Given the description of an element on the screen output the (x, y) to click on. 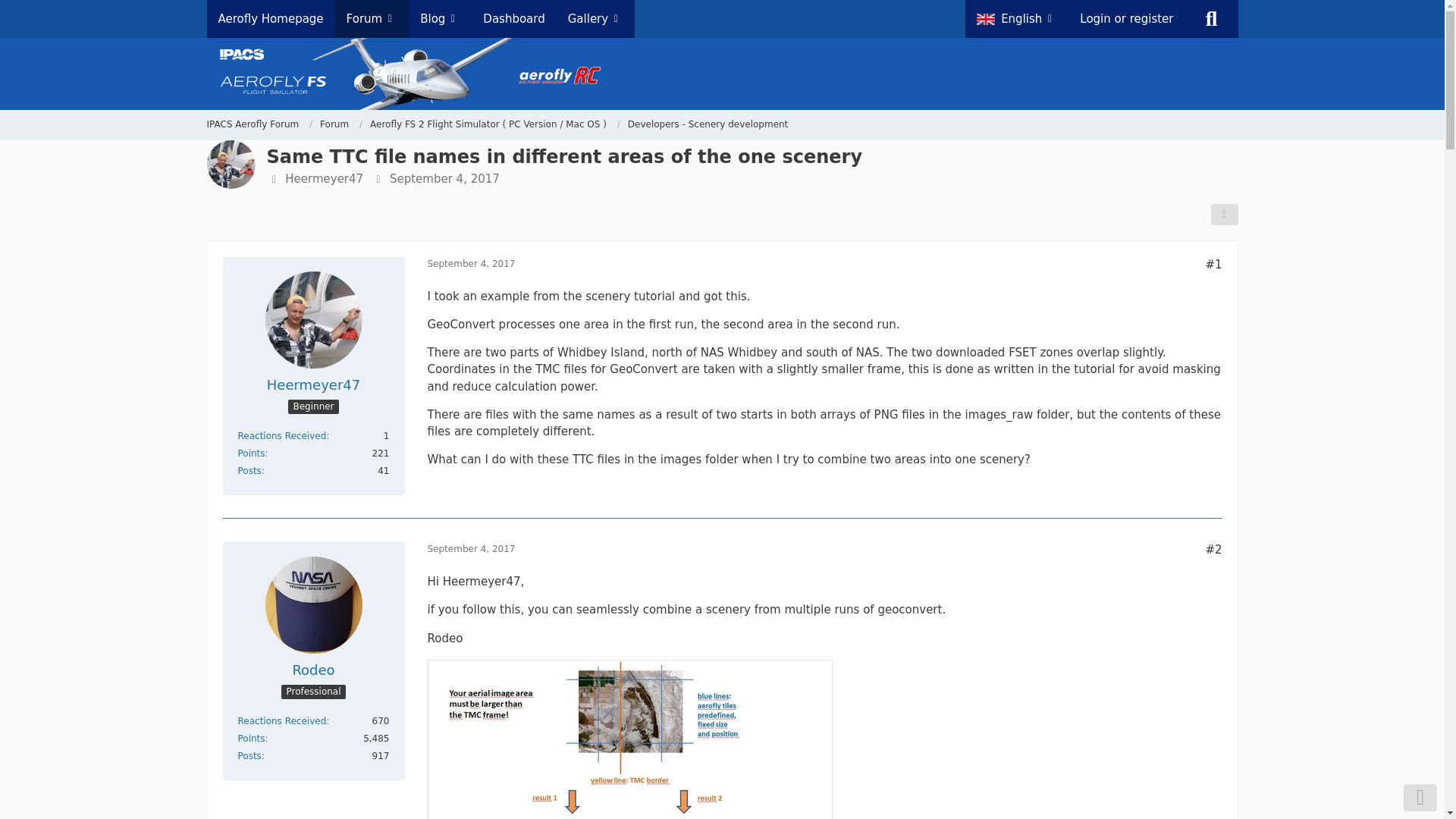
Aerofly Homepage (270, 18)
Points (251, 738)
1.jpg (630, 739)
Forum (334, 124)
Heermeyer47 (312, 384)
Reactions Received (282, 720)
IPACS Aerofly Forum (252, 124)
Posts (250, 470)
